Given the description of an element on the screen output the (x, y) to click on. 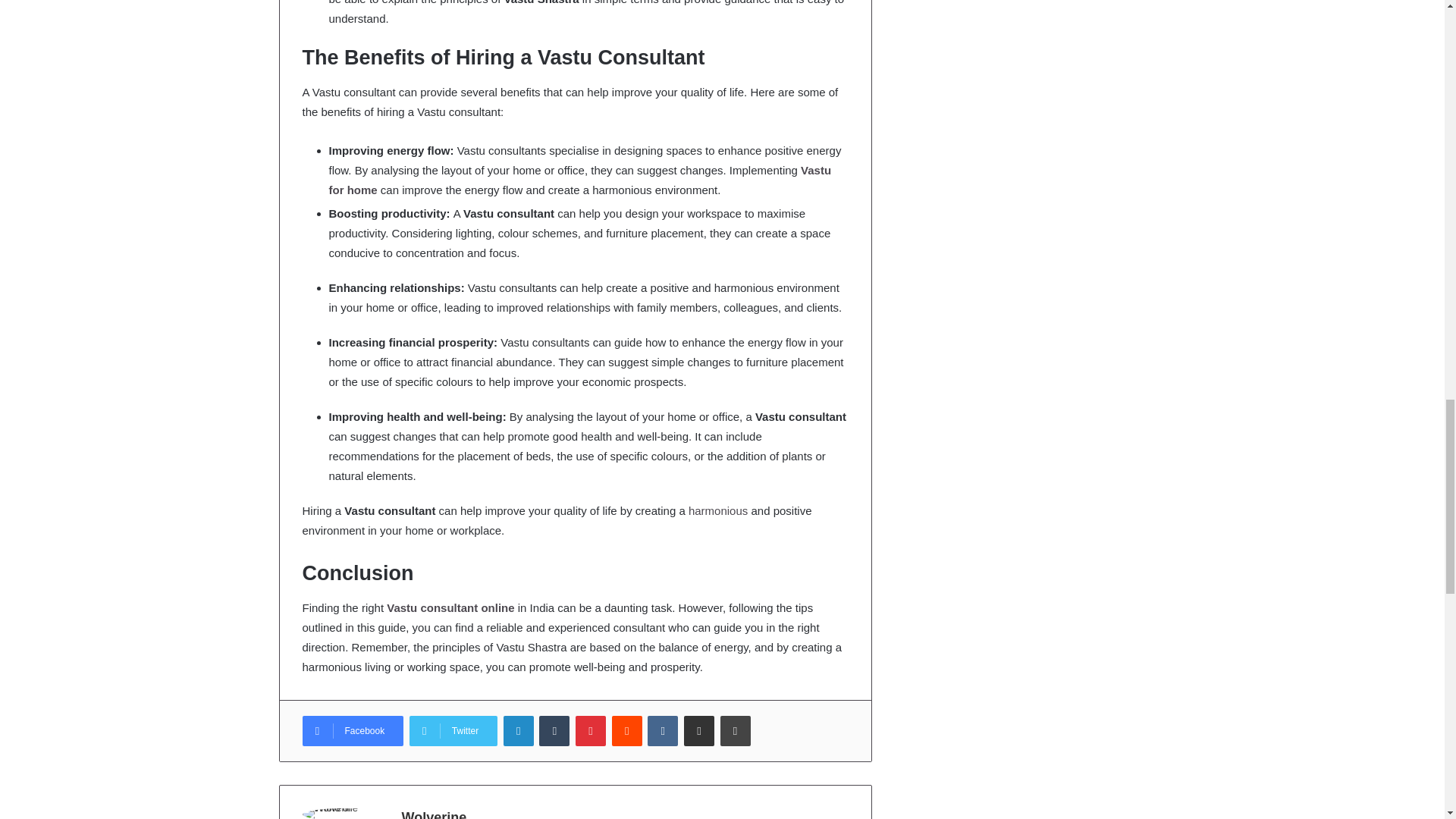
LinkedIn (518, 730)
Twitter (453, 730)
Tumblr (553, 730)
harmonious (718, 510)
online (496, 607)
Vastu for home (580, 179)
Pinterest (590, 730)
Twitter (453, 730)
Tumblr (553, 730)
VKontakte (662, 730)
